Given the description of an element on the screen output the (x, y) to click on. 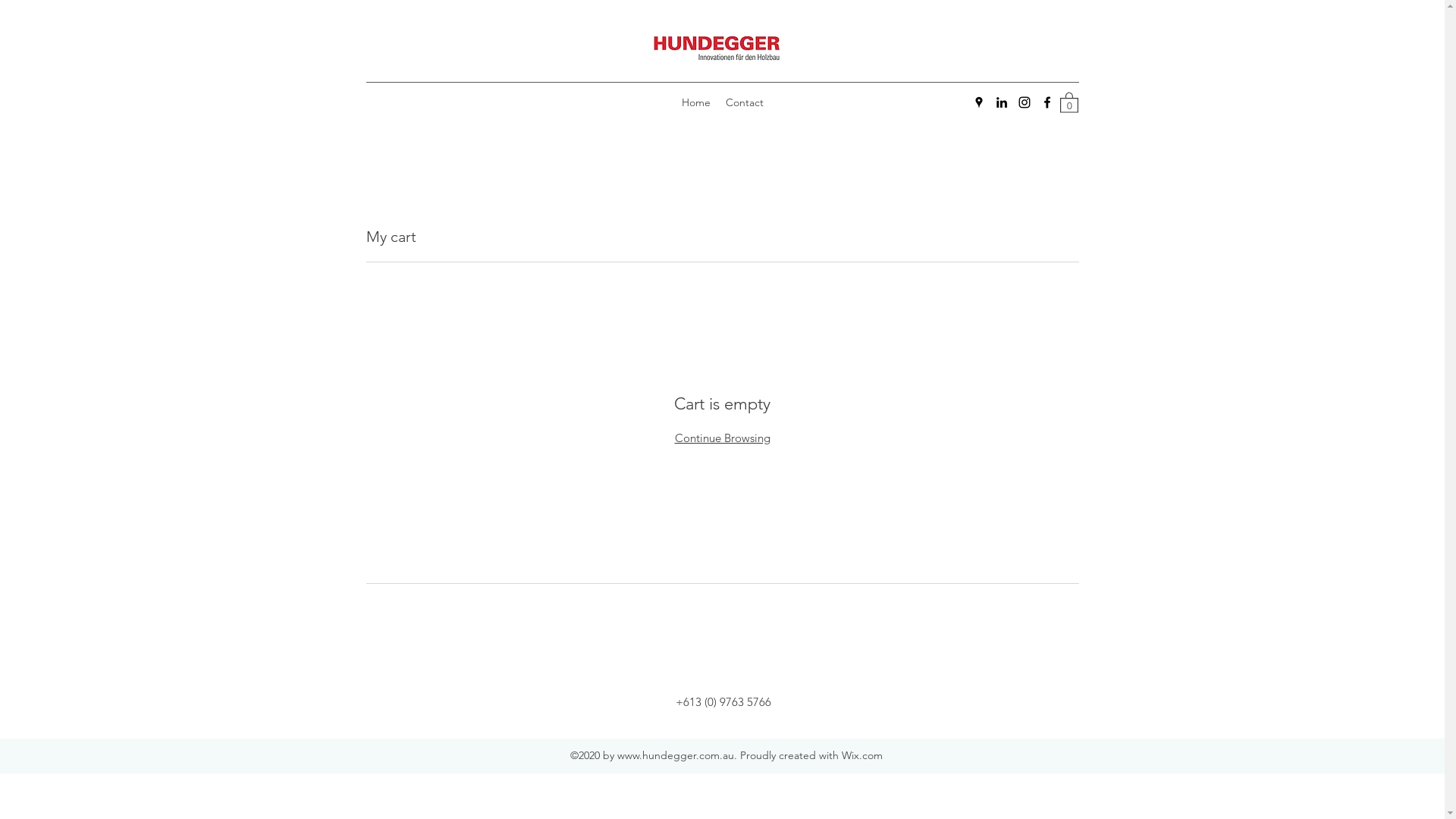
www.hundegger.com.au Element type: text (675, 755)
Contact Element type: text (743, 102)
0 Element type: text (1069, 101)
Home Element type: text (695, 102)
Continue Browsing Element type: text (722, 437)
